Given the description of an element on the screen output the (x, y) to click on. 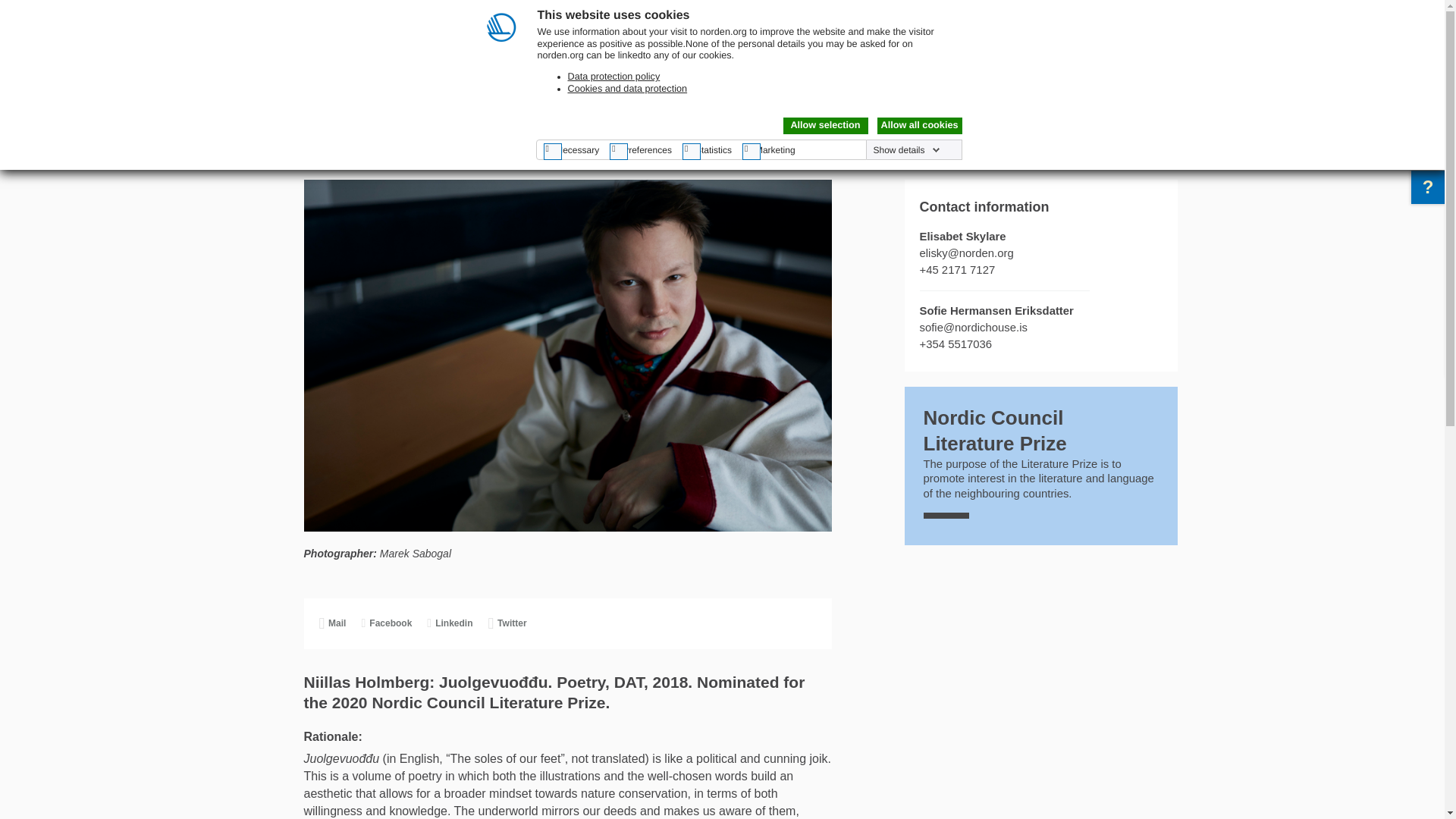
Allow selection (825, 125)
Show details (905, 150)
Allow all cookies (918, 125)
Cookies and data protection (627, 88)
Data protection policy (613, 76)
